Given the description of an element on the screen output the (x, y) to click on. 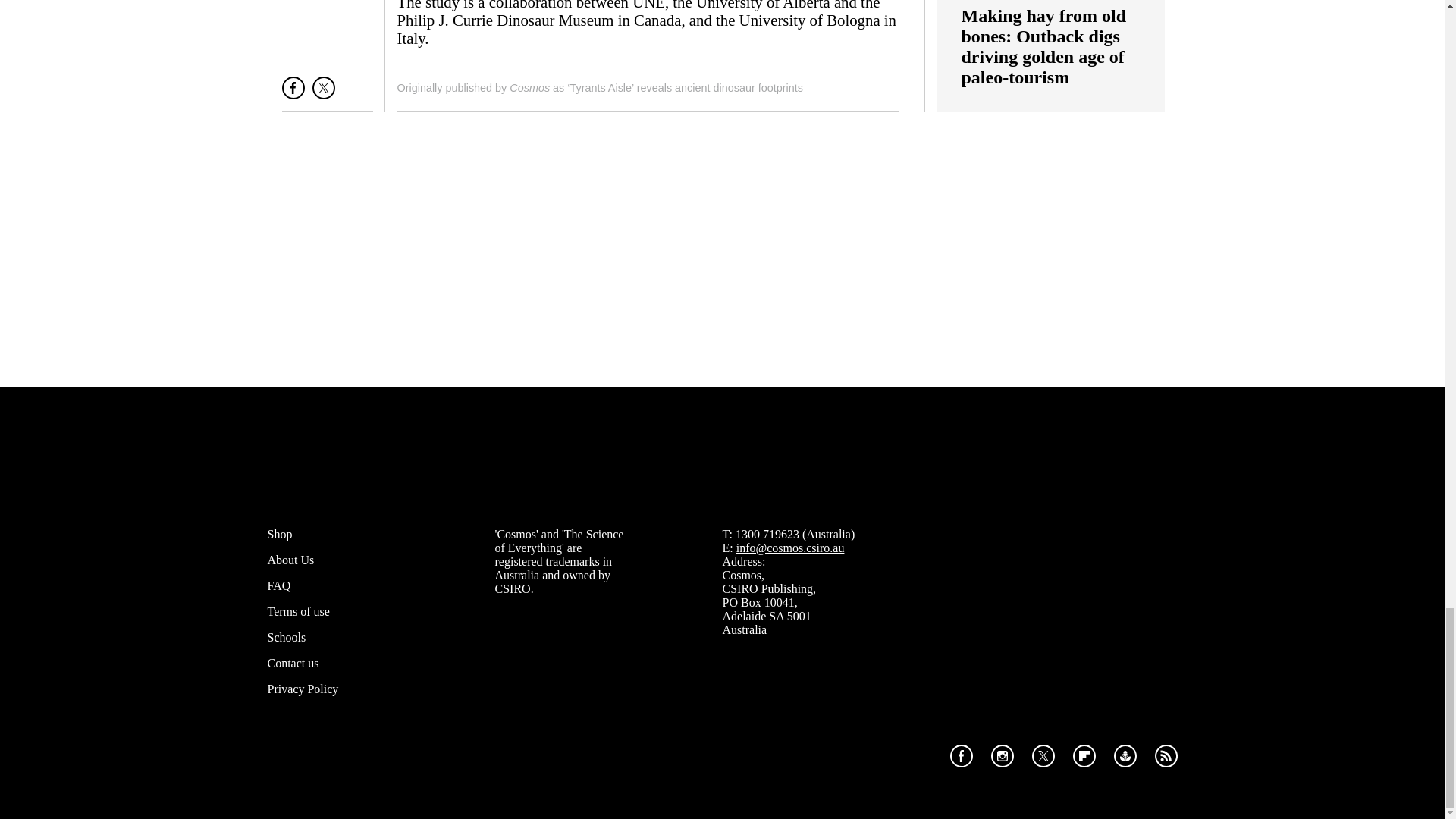
Share on Facebook (293, 93)
Tweet (323, 93)
